Given the description of an element on the screen output the (x, y) to click on. 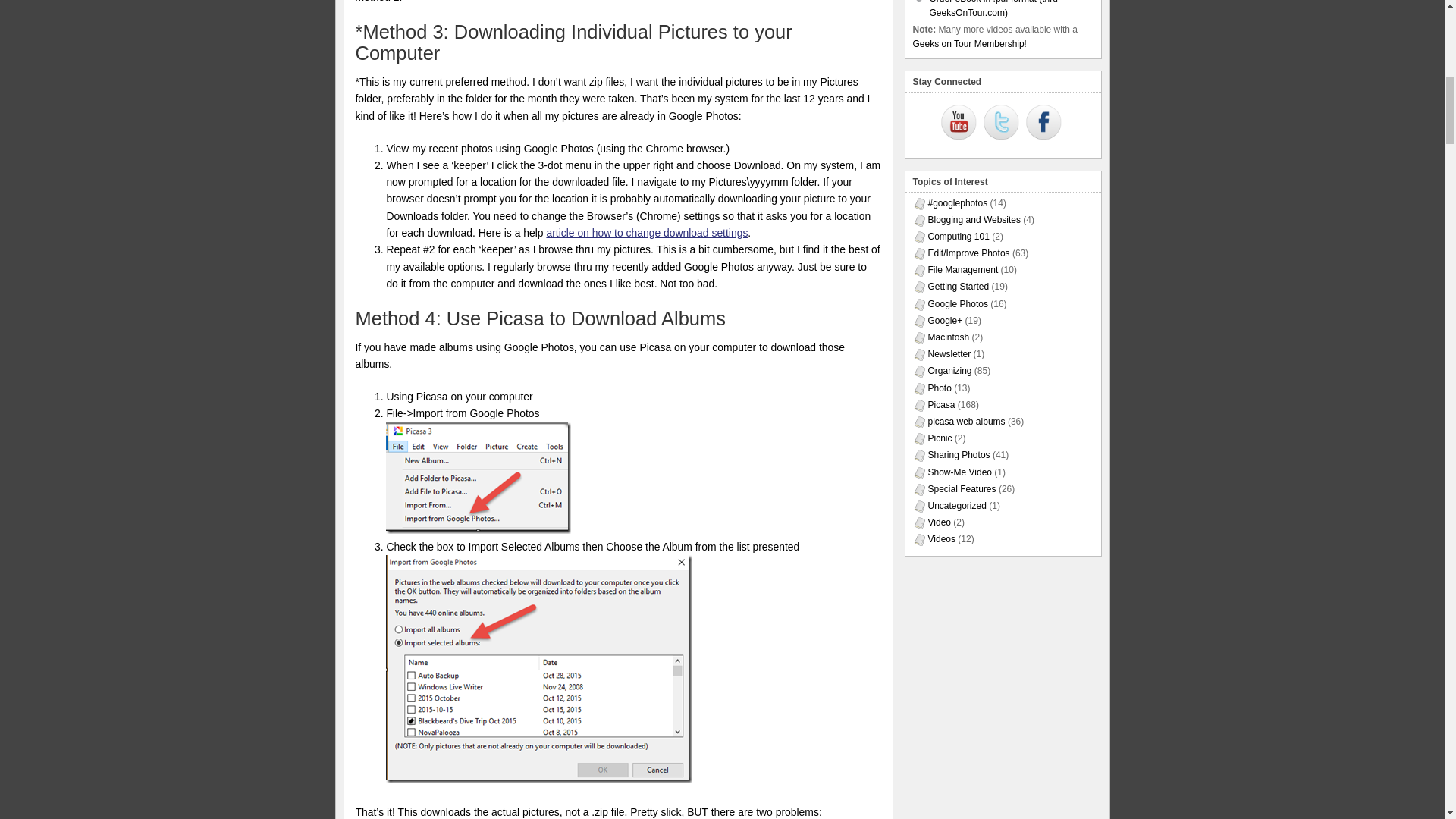
article on how to change download settings (647, 232)
image (477, 477)
image (539, 668)
